Given the description of an element on the screen output the (x, y) to click on. 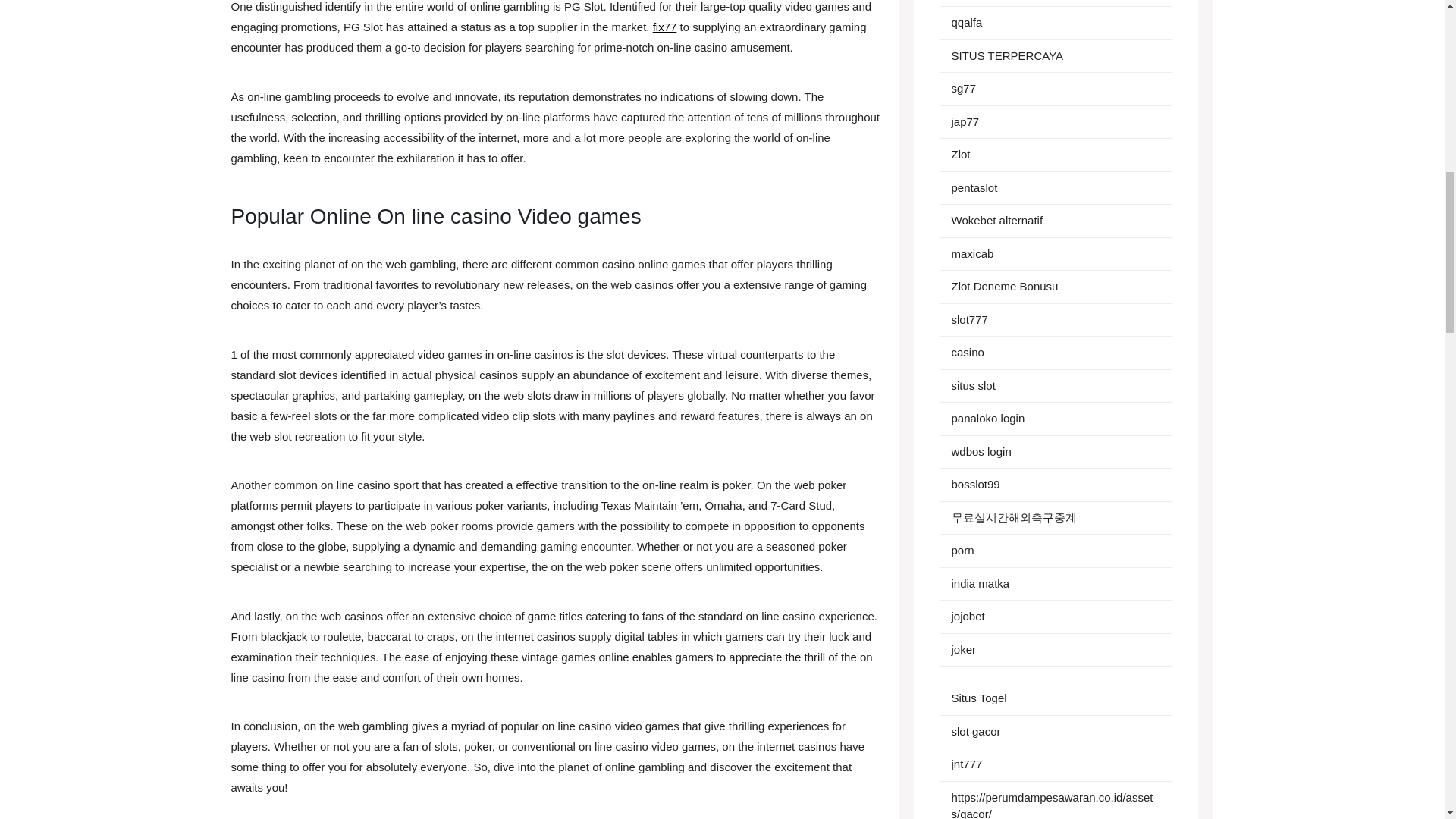
Zlot (959, 154)
SITUS TERPERCAYA (1006, 54)
sg77 (962, 88)
fix77 (664, 26)
pentaslot (973, 186)
qqalfa (965, 21)
jap77 (964, 121)
